Given the description of an element on the screen output the (x, y) to click on. 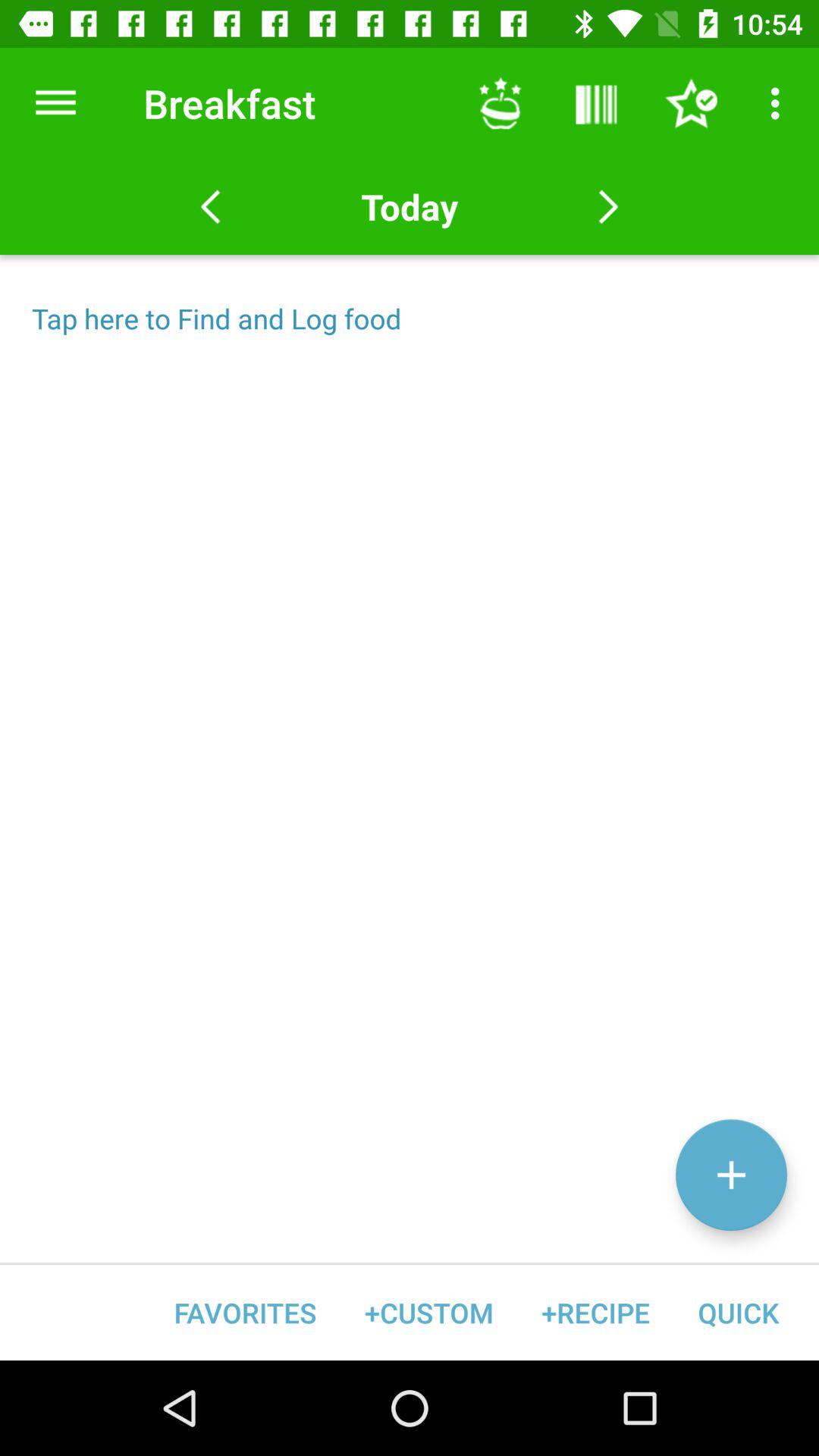
swipe to the +custom (428, 1312)
